Given the description of an element on the screen output the (x, y) to click on. 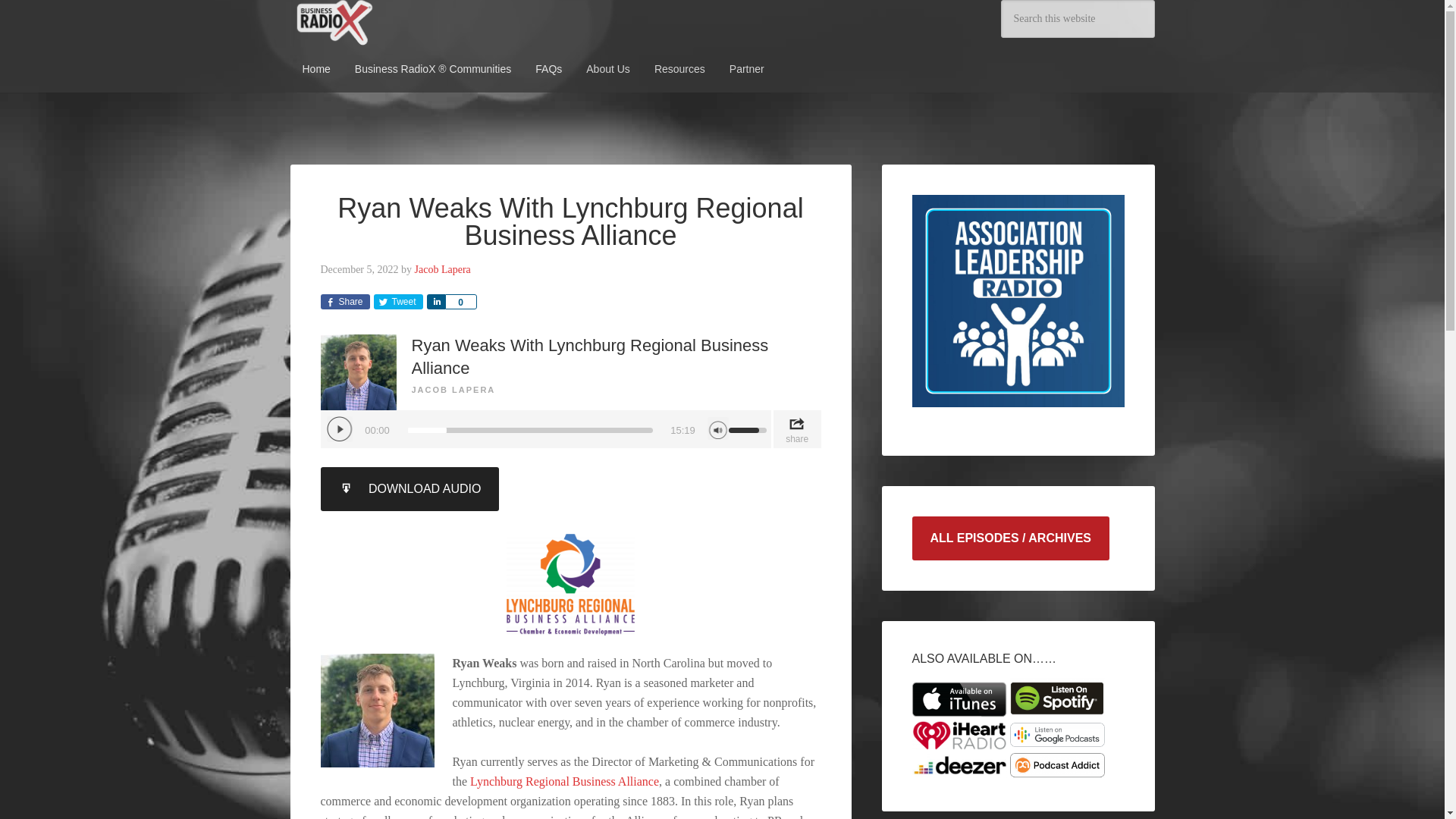
Home (315, 68)
Play (339, 429)
Mute (717, 427)
